Given the description of an element on the screen output the (x, y) to click on. 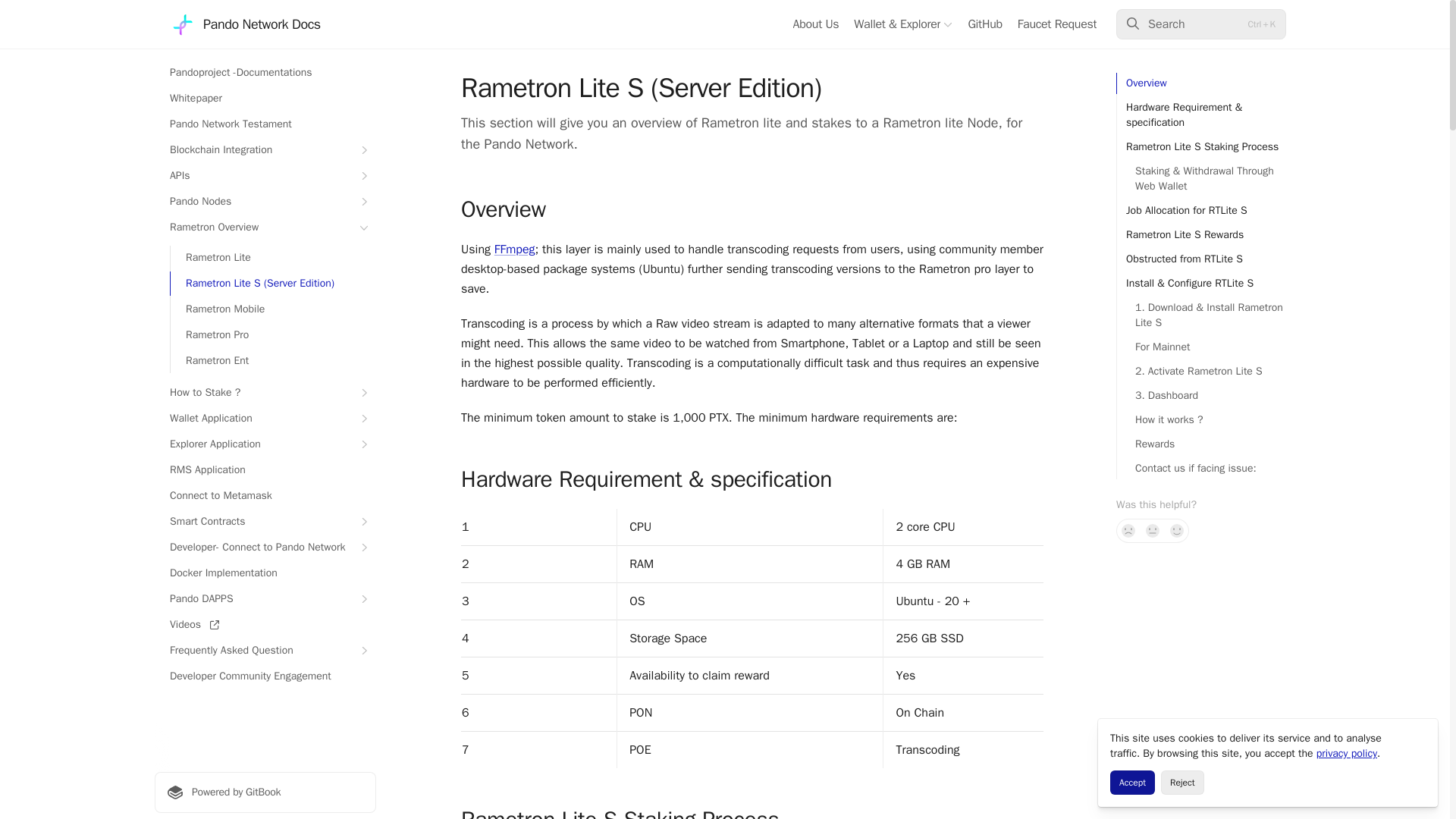
Pando Network Docs (245, 24)
Pandoproject -Documentations (264, 72)
Close (1419, 737)
Whitepaper (264, 98)
About Us (815, 24)
Faucet Request (1056, 24)
Blockchain Integration (264, 150)
Not sure (1152, 530)
APIs (264, 175)
Pando Nodes (264, 201)
